Given the description of an element on the screen output the (x, y) to click on. 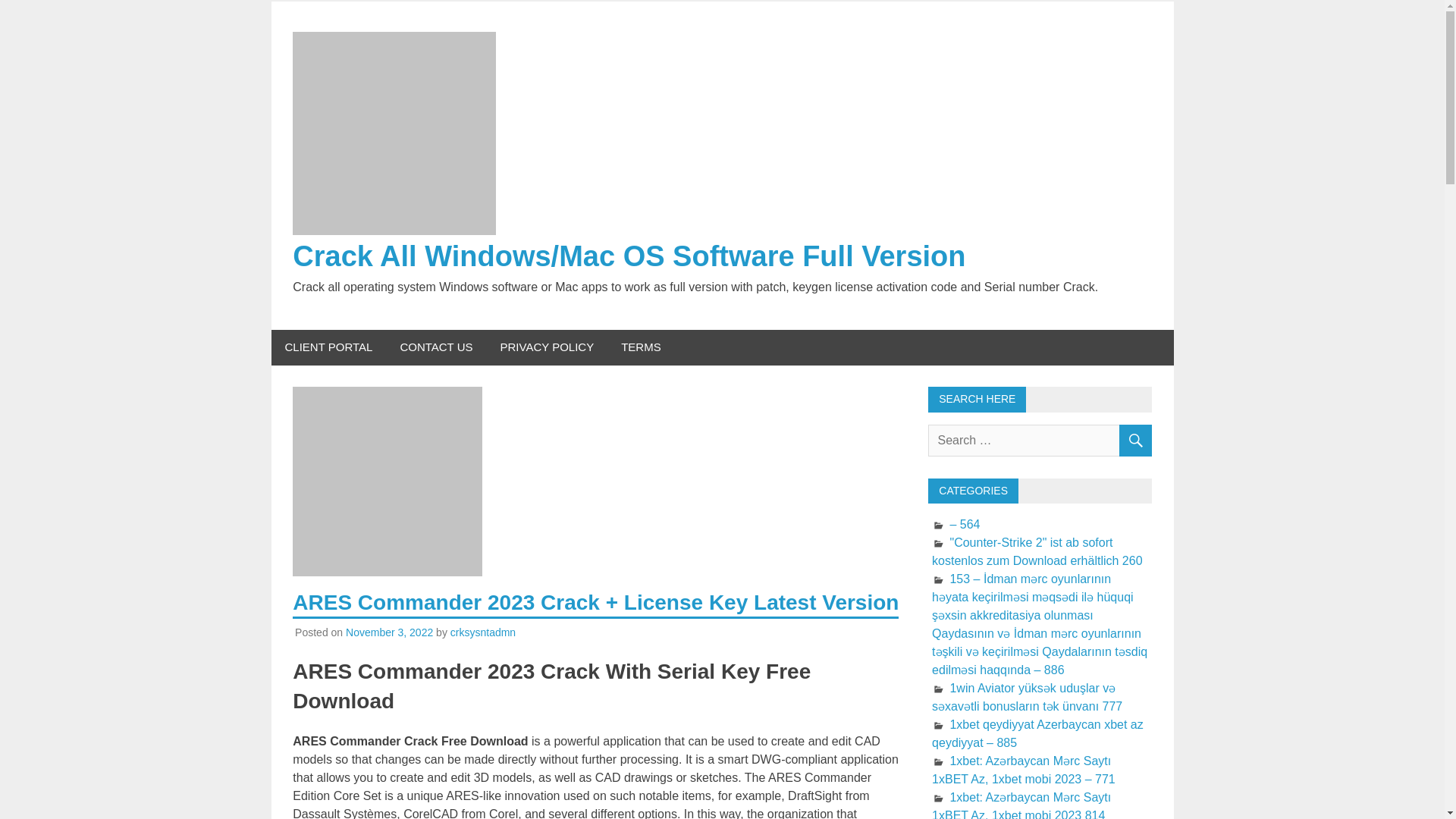
CLIENT PORTAL (328, 347)
crksysntadmn (482, 632)
November 3, 2022 (389, 632)
1:45 am (389, 632)
TERMS (641, 347)
View all posts by crksysntadmn (482, 632)
PRIVACY POLICY (547, 347)
CONTACT US (435, 347)
